Given the description of an element on the screen output the (x, y) to click on. 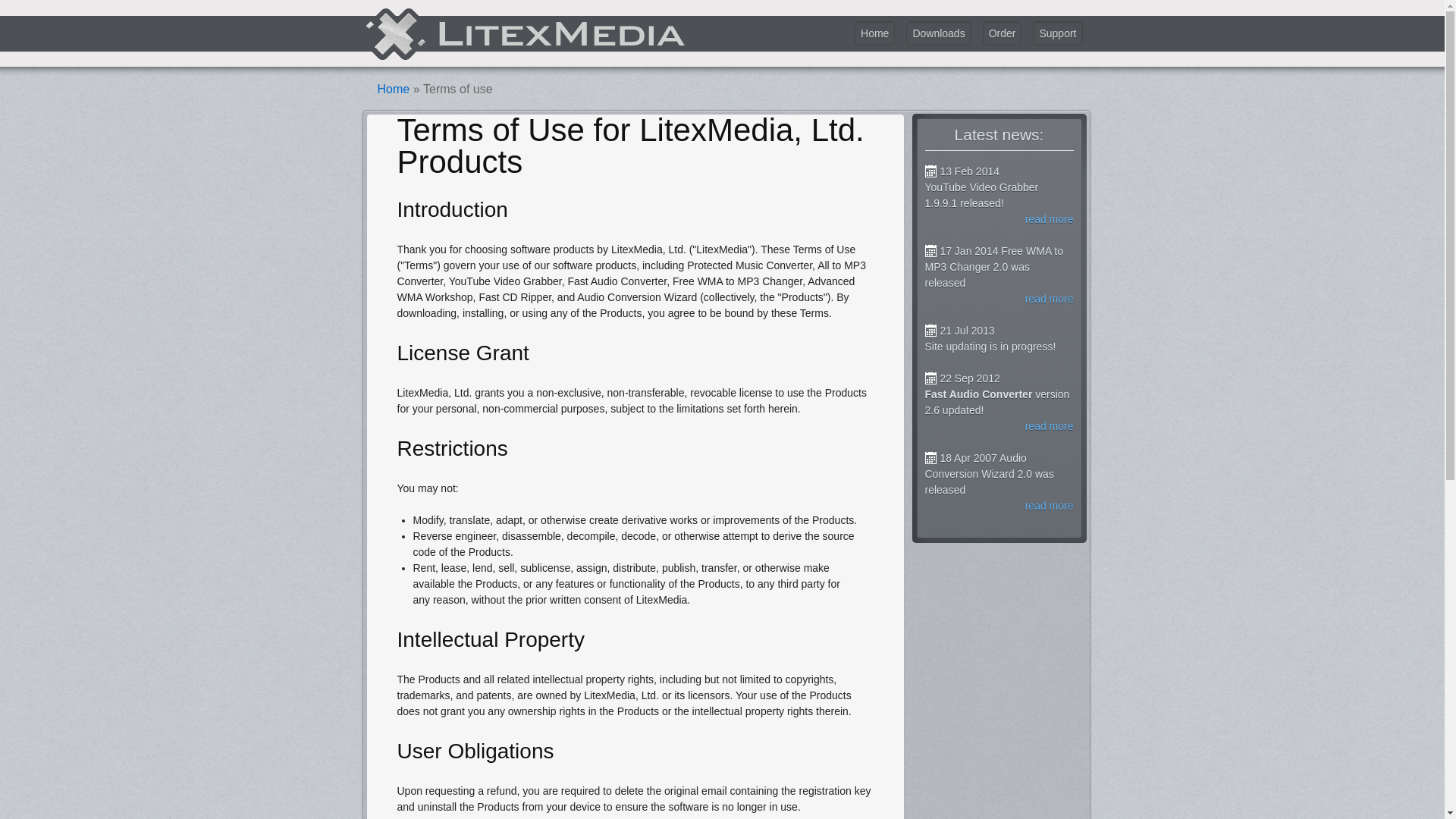
Support (1056, 33)
Home (393, 88)
Downloads (938, 33)
Order (1002, 33)
read more (1049, 505)
read more (1049, 298)
Order (1002, 33)
read more (1049, 218)
Downloads (938, 33)
Support (1056, 33)
